Given the description of an element on the screen output the (x, y) to click on. 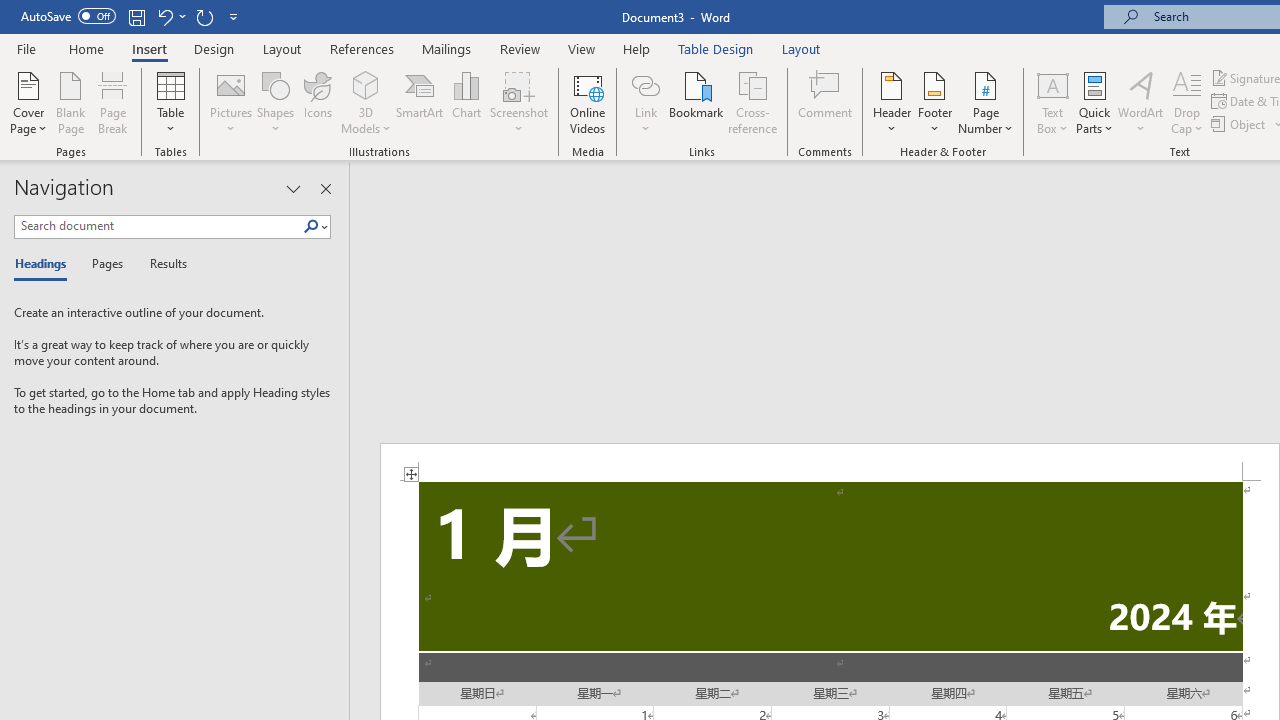
Repeat Doc Close (204, 15)
Pages (105, 264)
Screenshot (518, 102)
Page Number (986, 102)
System (10, 11)
Close pane (325, 188)
Object... (1240, 124)
Shapes (275, 102)
Cover Page (28, 102)
Headings (45, 264)
View (582, 48)
Help (637, 48)
SmartArt... (419, 102)
Quick Parts (1094, 102)
